Given the description of an element on the screen output the (x, y) to click on. 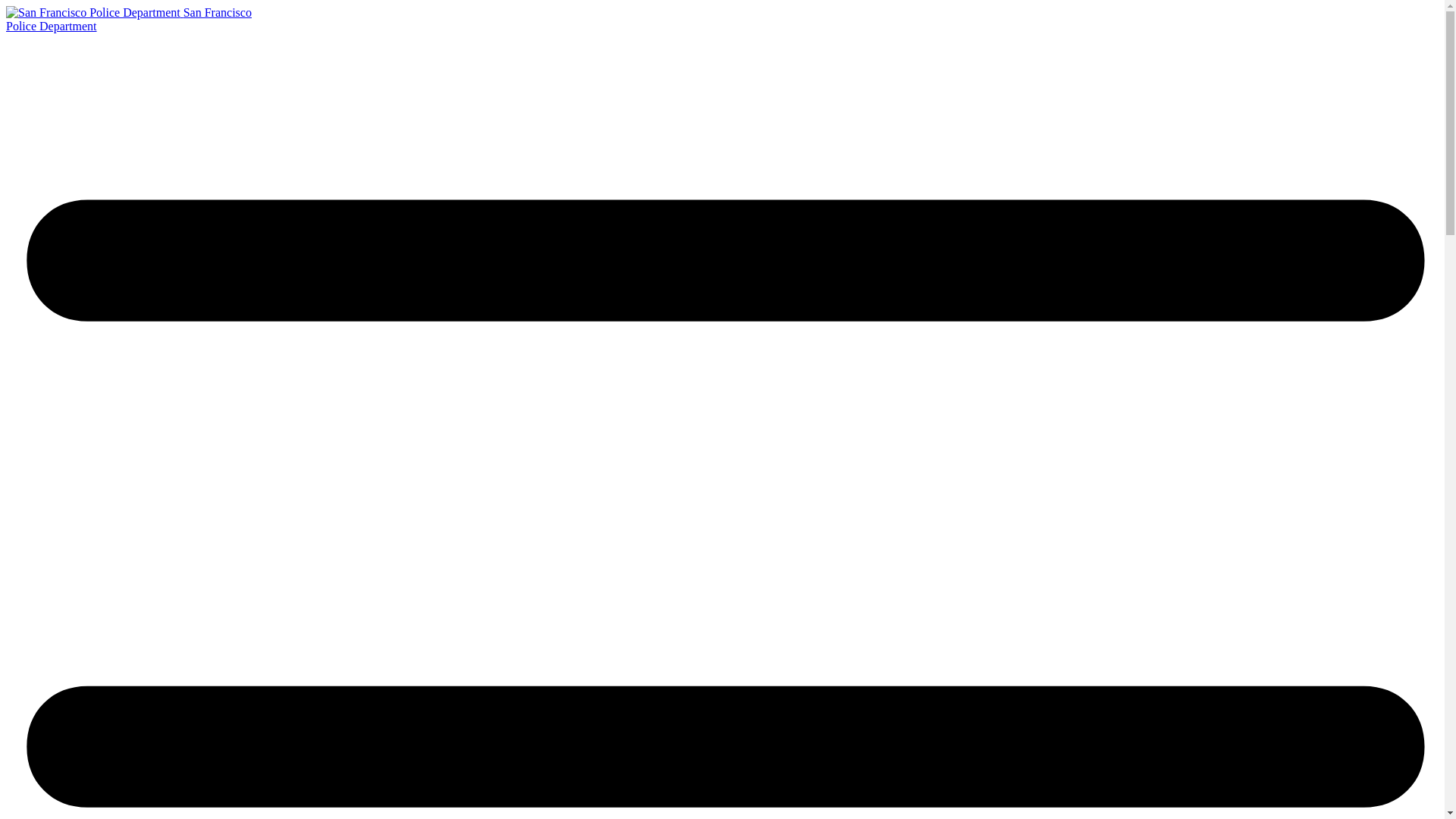
Home (128, 18)
Home (94, 11)
Skip to main content (128, 18)
